Given the description of an element on the screen output the (x, y) to click on. 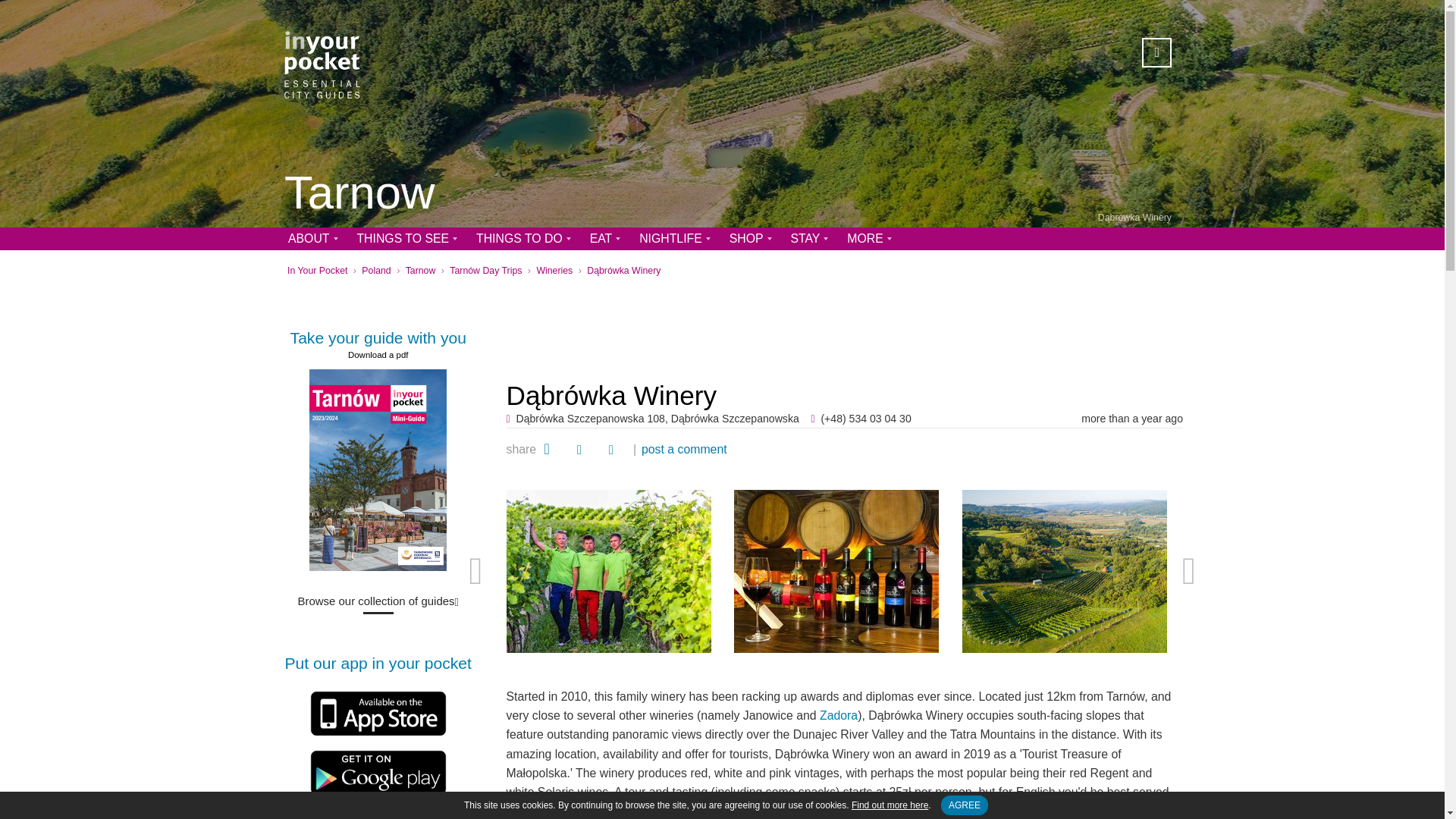
post a comment (684, 448)
Advertisement (845, 325)
Tarnow (359, 194)
